Given the description of an element on the screen output the (x, y) to click on. 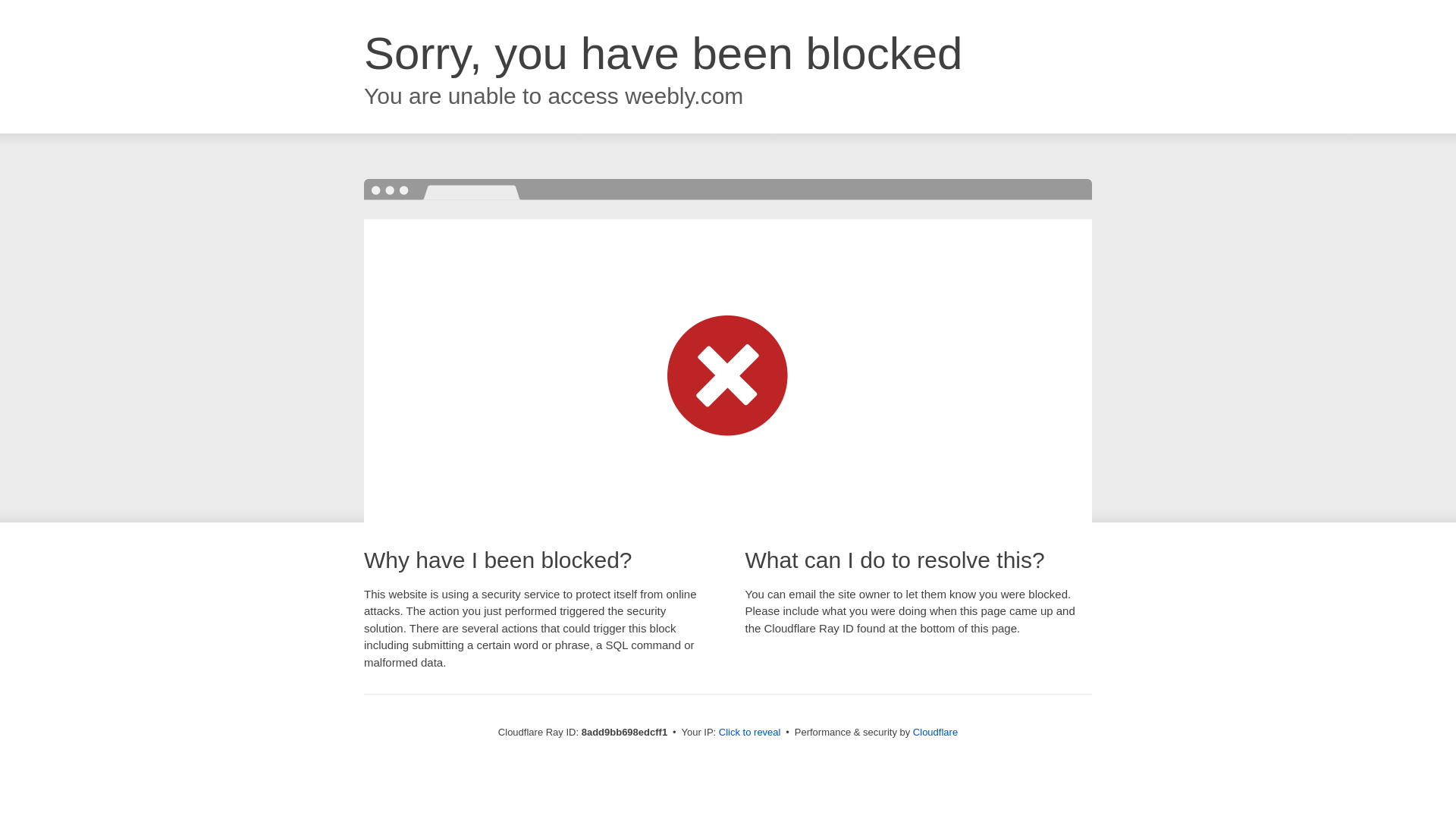
Cloudflare (935, 731)
Click to reveal (749, 732)
